Given the description of an element on the screen output the (x, y) to click on. 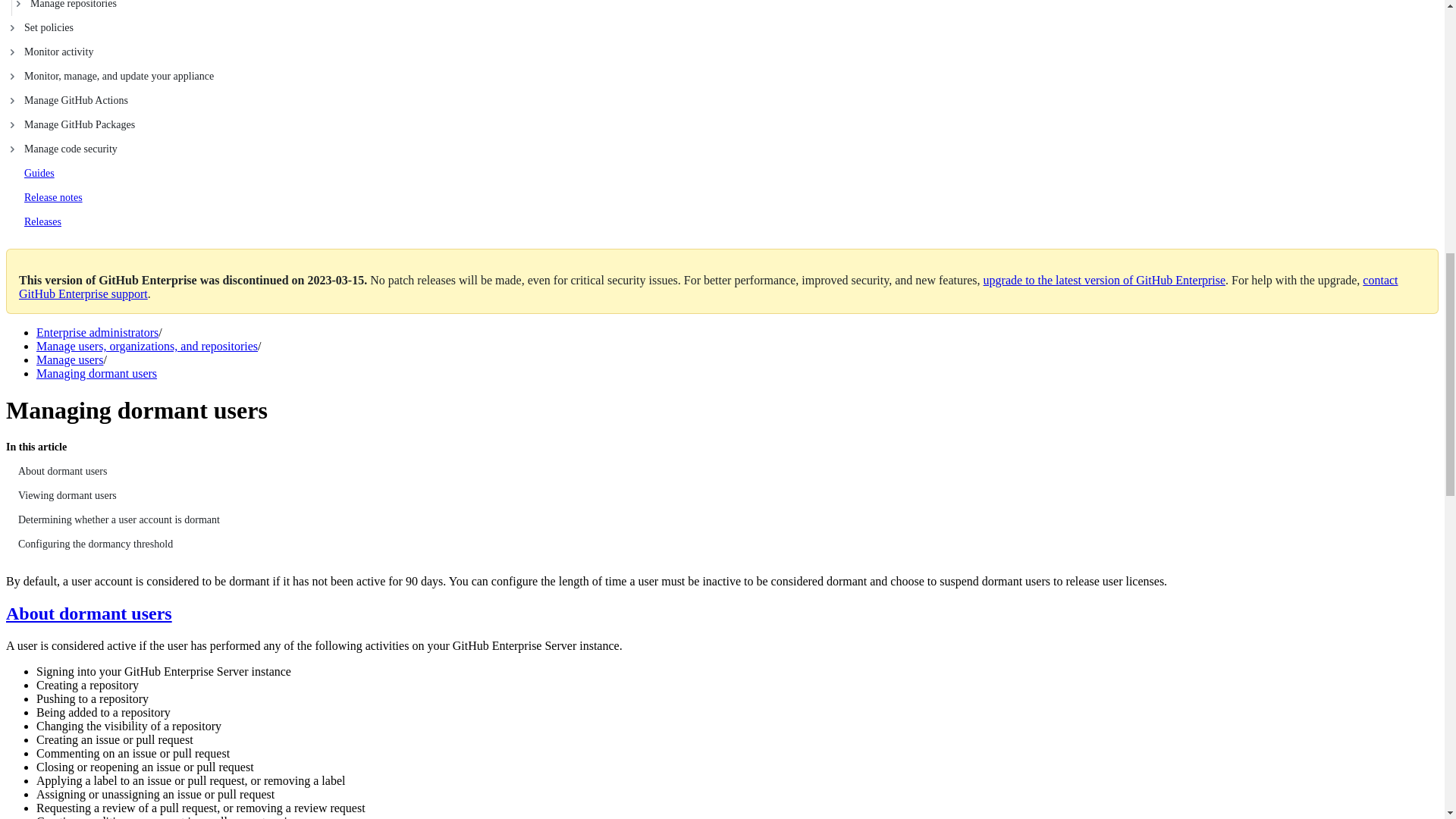
Managing dormant users (96, 373)
Manage users (69, 359)
Viewing dormant users (721, 495)
Releases (42, 221)
Manage users, organizations, and repositories (146, 345)
Managing dormant users (96, 373)
Guides (39, 173)
Manage users (69, 359)
Enterprise administrators (97, 332)
2023-03-15 (336, 279)
About dormant users (721, 471)
upgrade to the latest version of GitHub Enterprise (1104, 279)
Enterprise administrators (97, 332)
Manage users, organizations, and repositories (146, 345)
Release notes (53, 197)
